Given the description of an element on the screen output the (x, y) to click on. 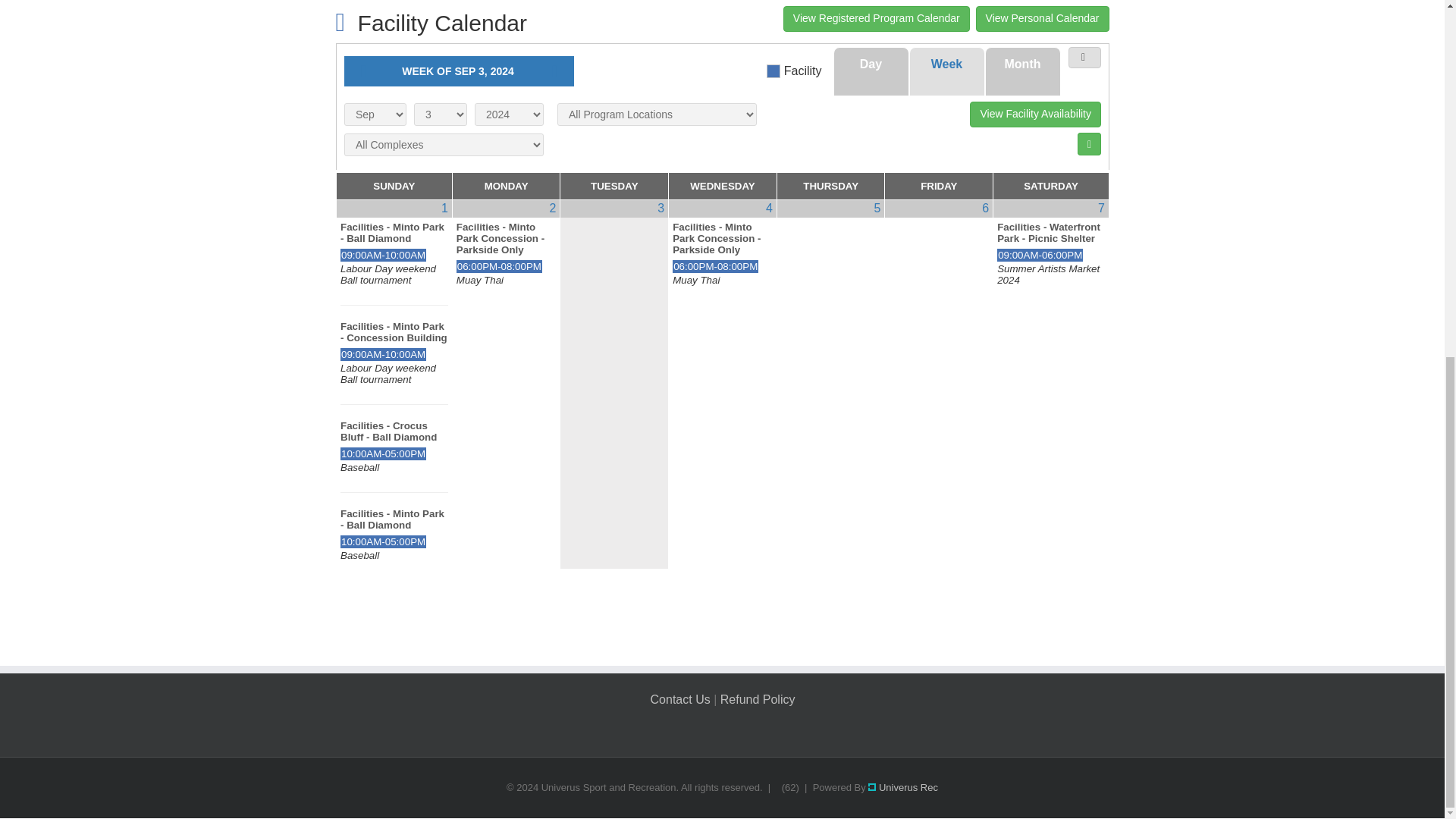
View Personal Calendar (1042, 18)
Refund Policy (757, 698)
View Registered Program Calendar (876, 18)
Contact Us (680, 698)
 Univerus Rec (902, 787)
